Given the description of an element on the screen output the (x, y) to click on. 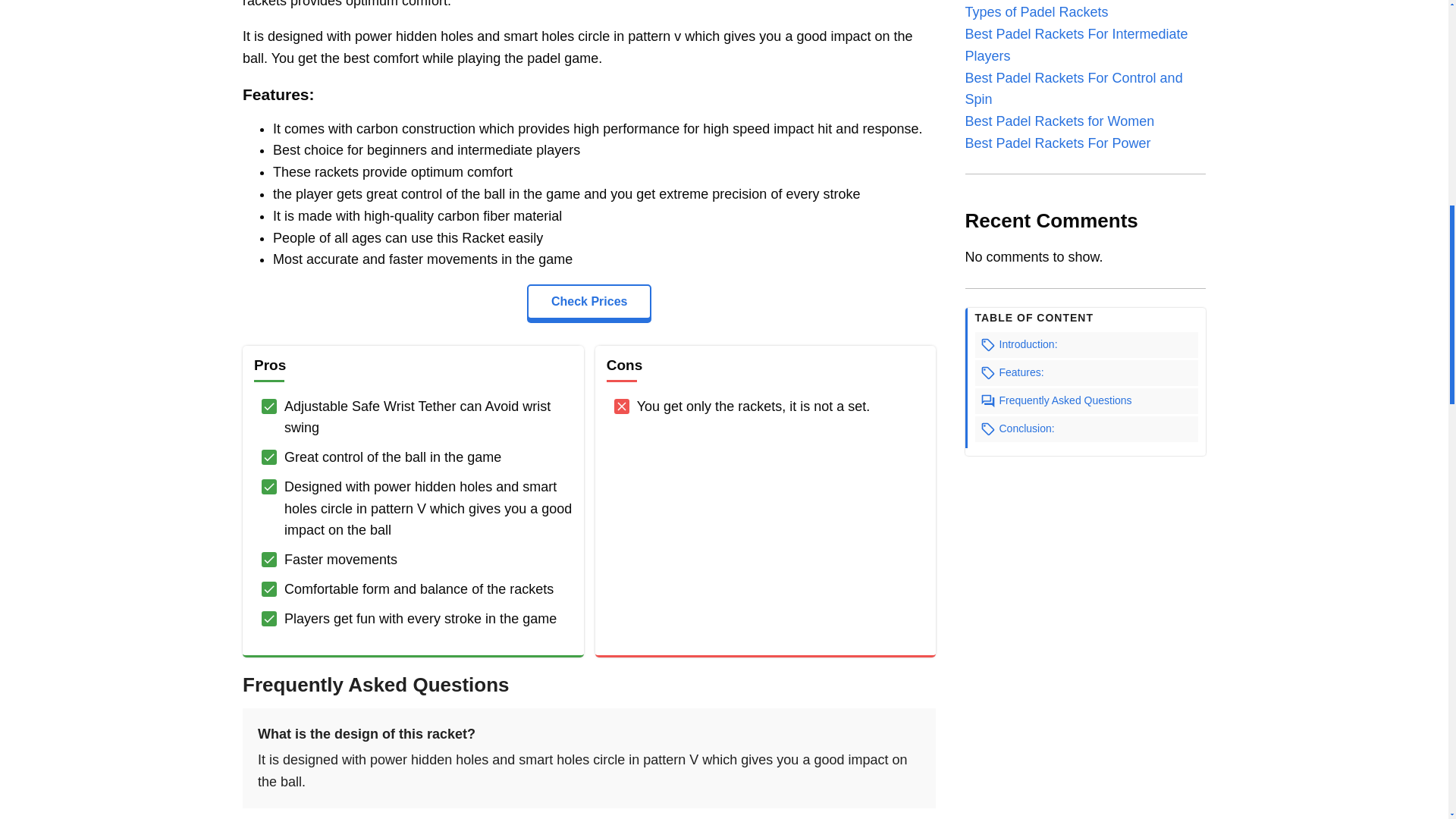
Best Padel Rackets For Intermediate Players (1075, 44)
Types of Padel Rackets (1035, 11)
Check Prices (589, 301)
